Given the description of an element on the screen output the (x, y) to click on. 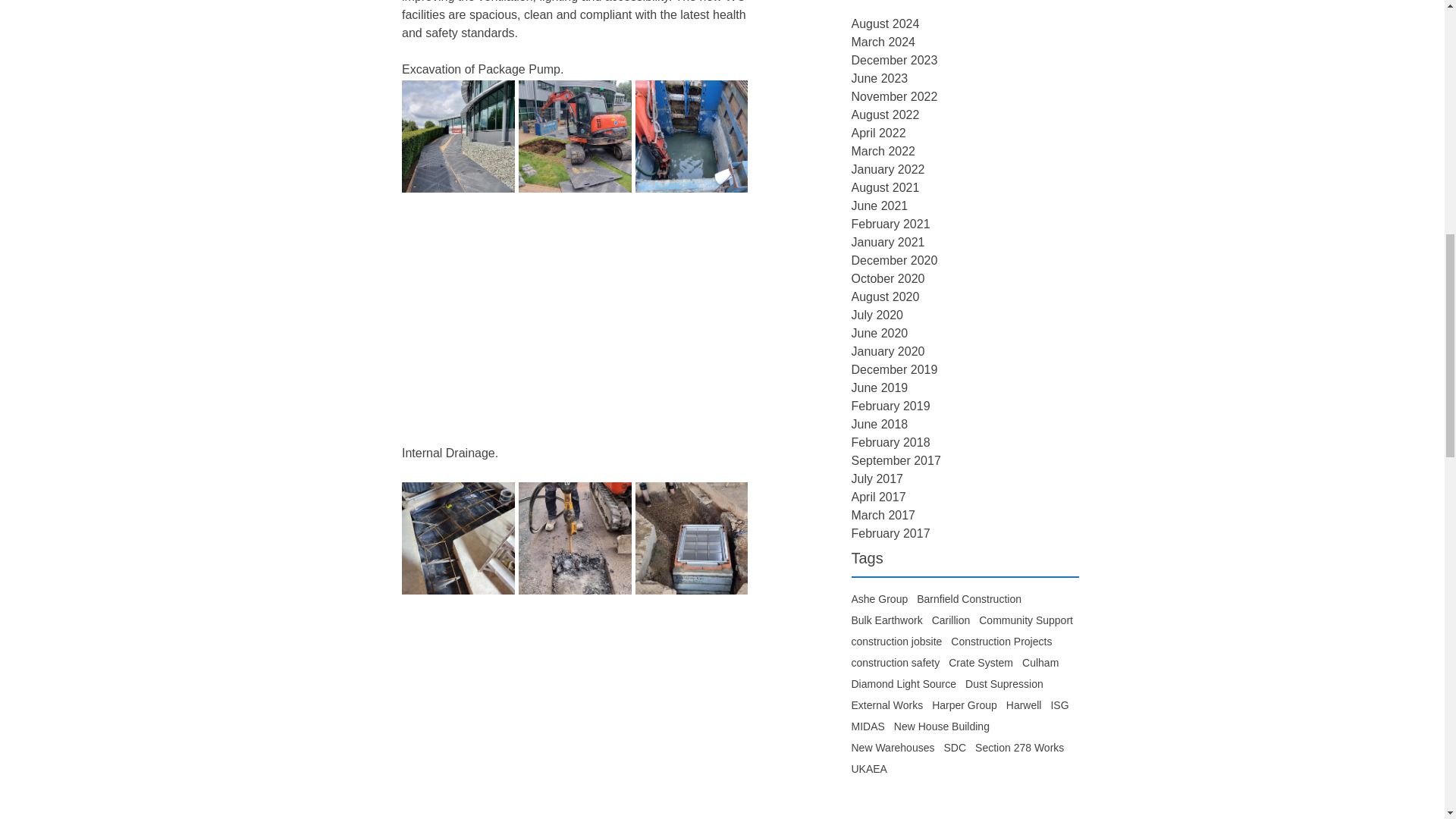
December 2020 (964, 260)
March 2022 (964, 151)
December 2023 (964, 60)
August 2024 (964, 24)
August 2021 (964, 188)
April 2022 (964, 133)
February 2019 (964, 406)
June 2020 (964, 333)
February 2018 (964, 443)
July 2020 (964, 315)
